Given the description of an element on the screen output the (x, y) to click on. 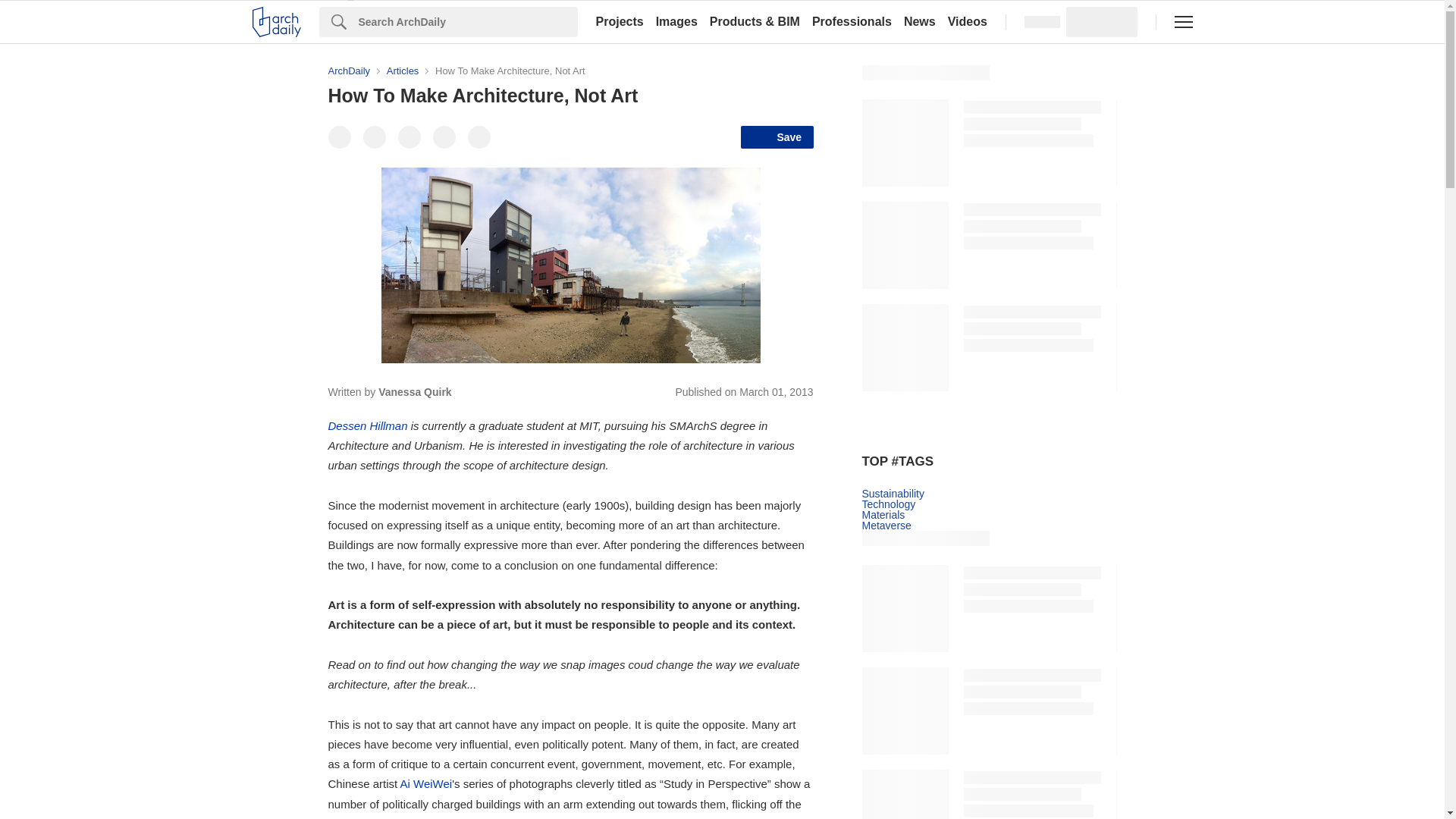
Images (676, 21)
Professionals (852, 21)
Videos (967, 21)
News (920, 21)
Projects (619, 21)
